Given the description of an element on the screen output the (x, y) to click on. 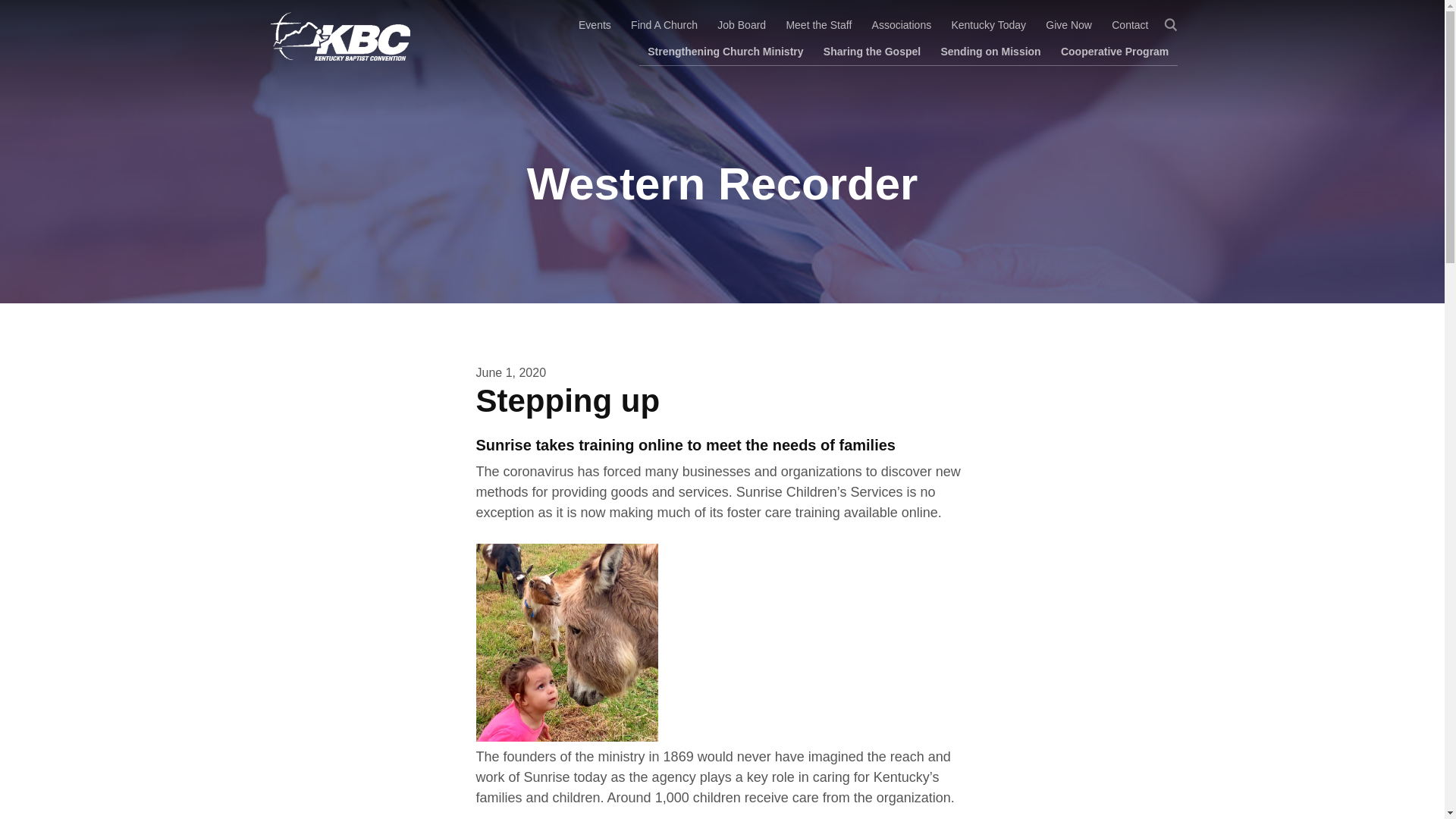
Kentucky Baptist Convention (337, 36)
